Given the description of an element on the screen output the (x, y) to click on. 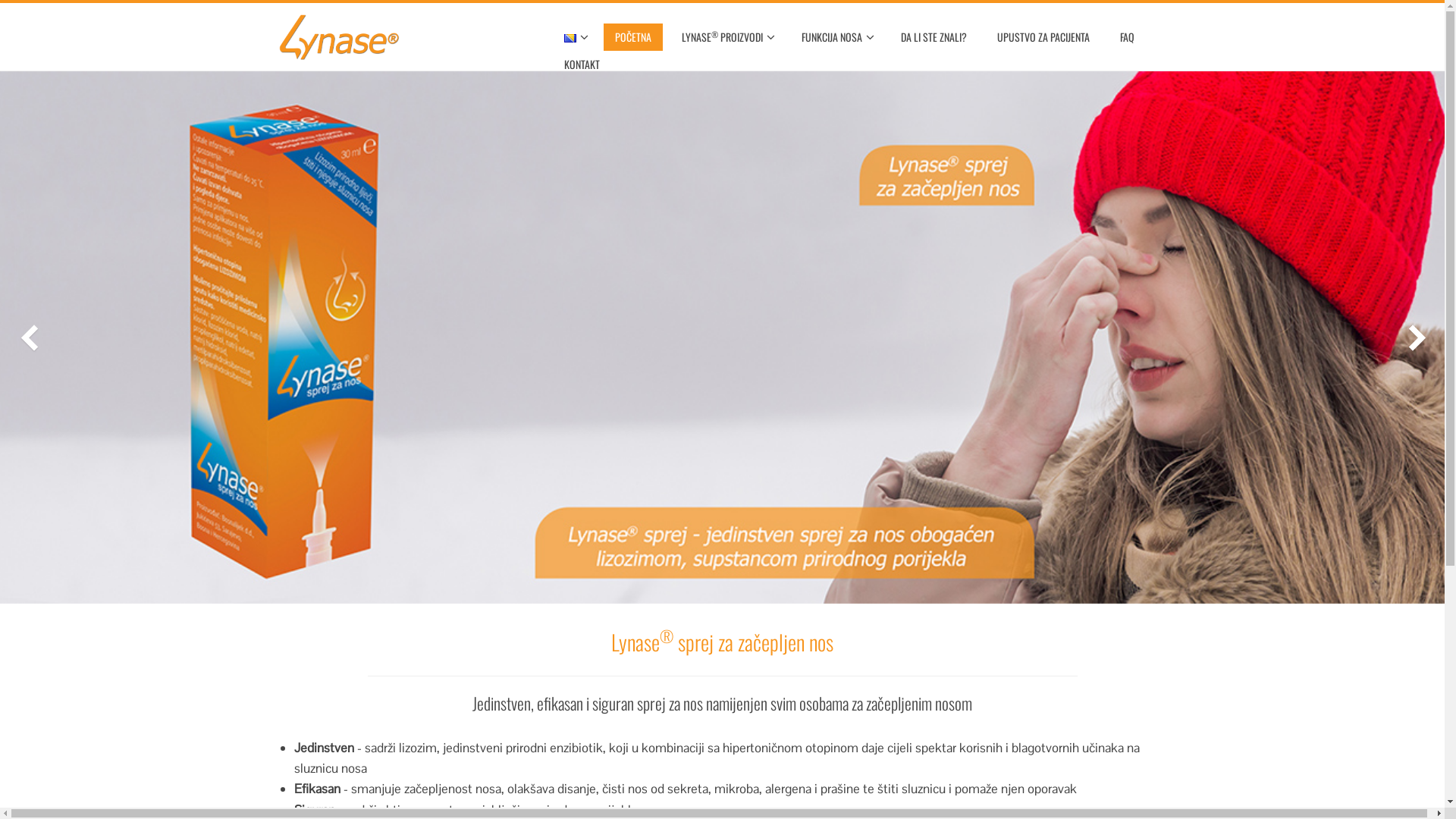
FUNKCIJA NOSA Element type: text (835, 36)
FAQ Element type: text (1126, 36)
KONTAKT Element type: text (581, 64)
DA LI STE ZNALI? Element type: text (932, 36)
Bosanski Element type: hover (570, 38)
UPUSTVO ZA PACIJENTA Element type: text (1043, 36)
